Given the description of an element on the screen output the (x, y) to click on. 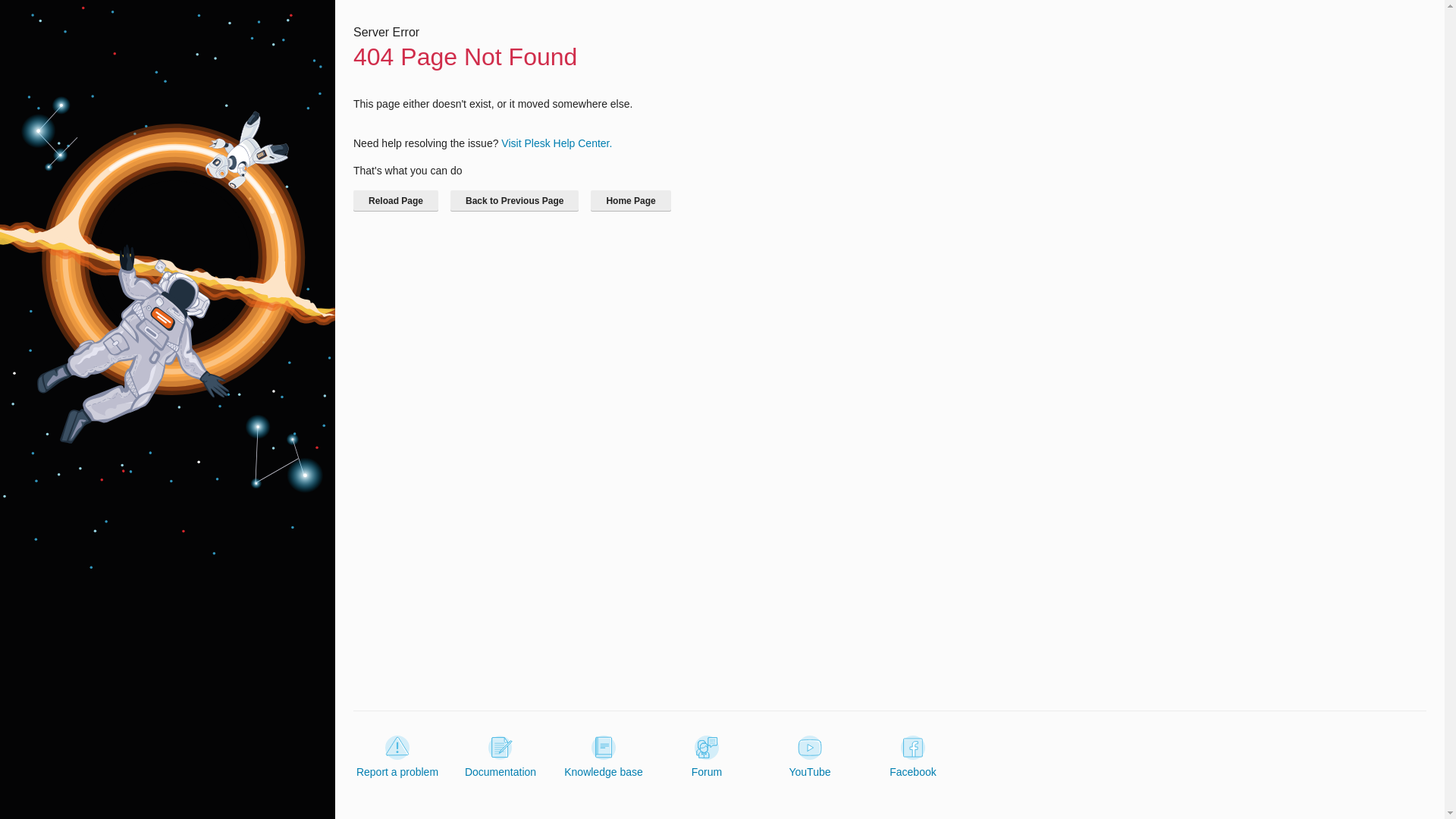
YouTube (809, 757)
Forum (706, 757)
Knowledge base (603, 757)
Documentation (500, 757)
Reload Page (395, 200)
Back to Previous Page (513, 200)
Home Page (630, 200)
Visit Plesk Help Center. (555, 143)
Facebook (912, 757)
Report a problem (397, 757)
